Given the description of an element on the screen output the (x, y) to click on. 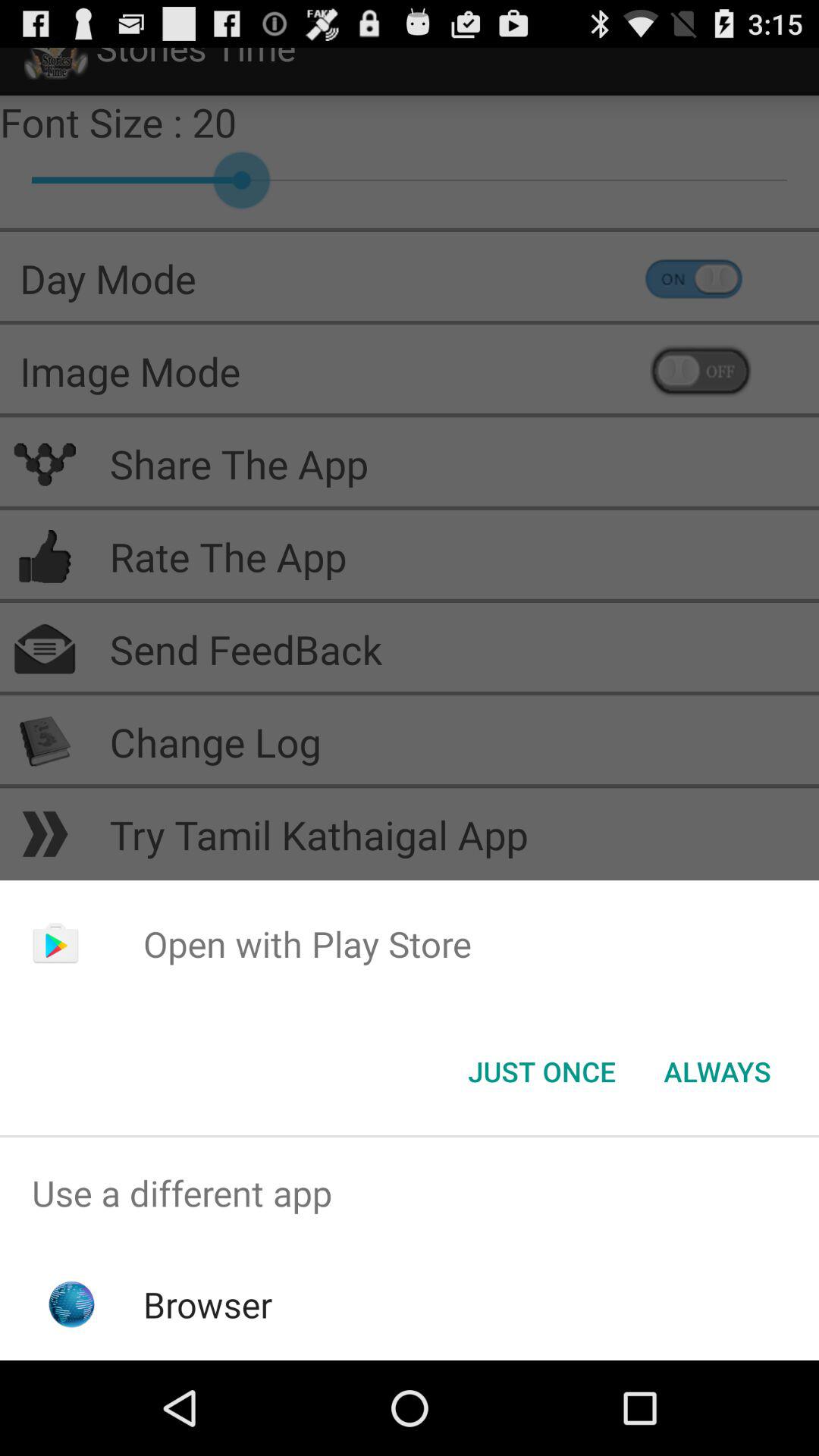
press item next to always button (541, 1071)
